Given the description of an element on the screen output the (x, y) to click on. 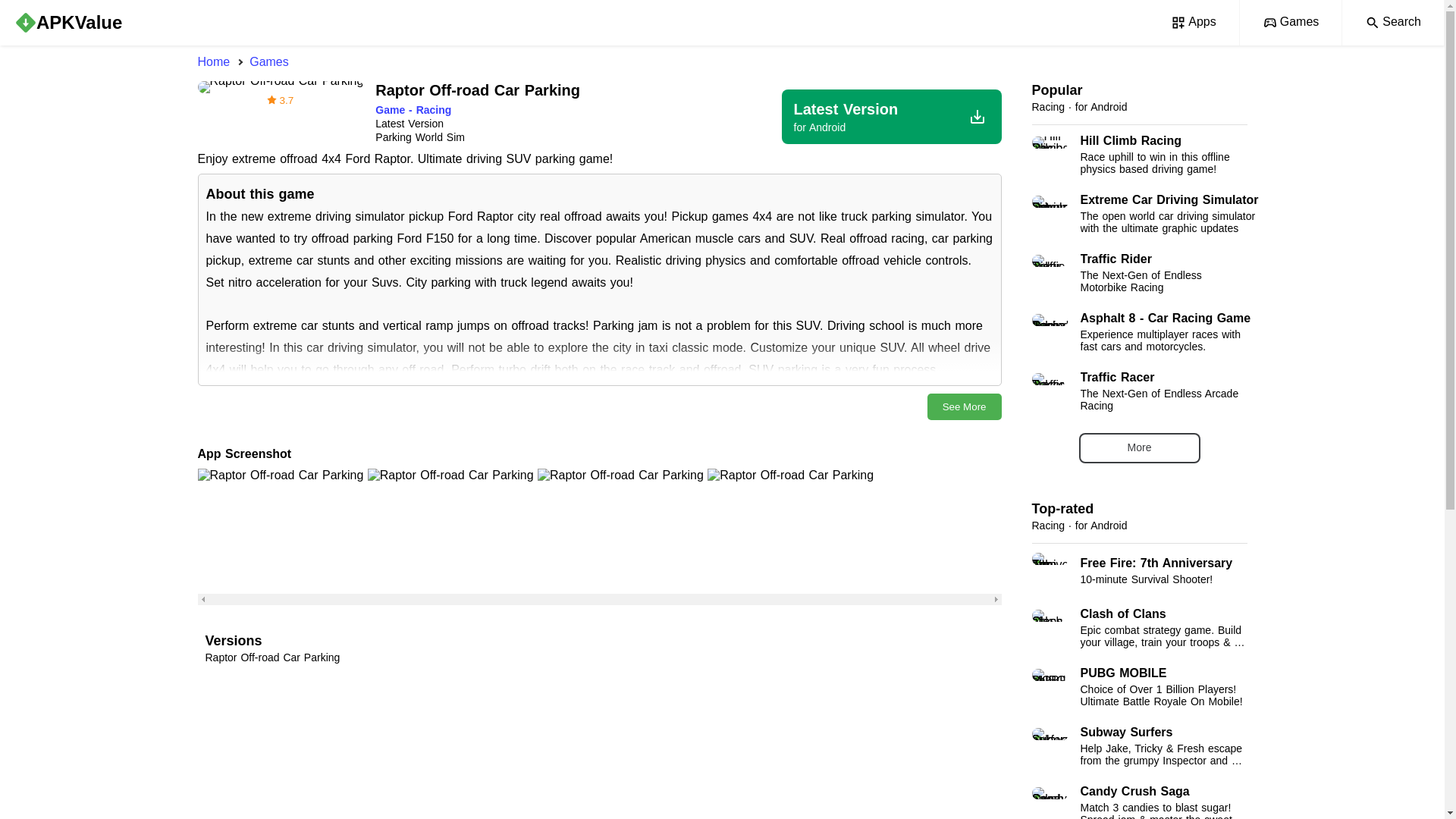
Traffic Rider APK (1138, 272)
Free Fire: 7th Anniversary APK (1138, 570)
Subway Surfers APK (1138, 272)
Asphalt 8 - Car Racing Game APK (1138, 745)
Games (721, 61)
More (1138, 332)
Game - Racing (1138, 391)
APKValue (1291, 22)
Games (1138, 448)
Traffic Racer APK (413, 110)
